Given the description of an element on the screen output the (x, y) to click on. 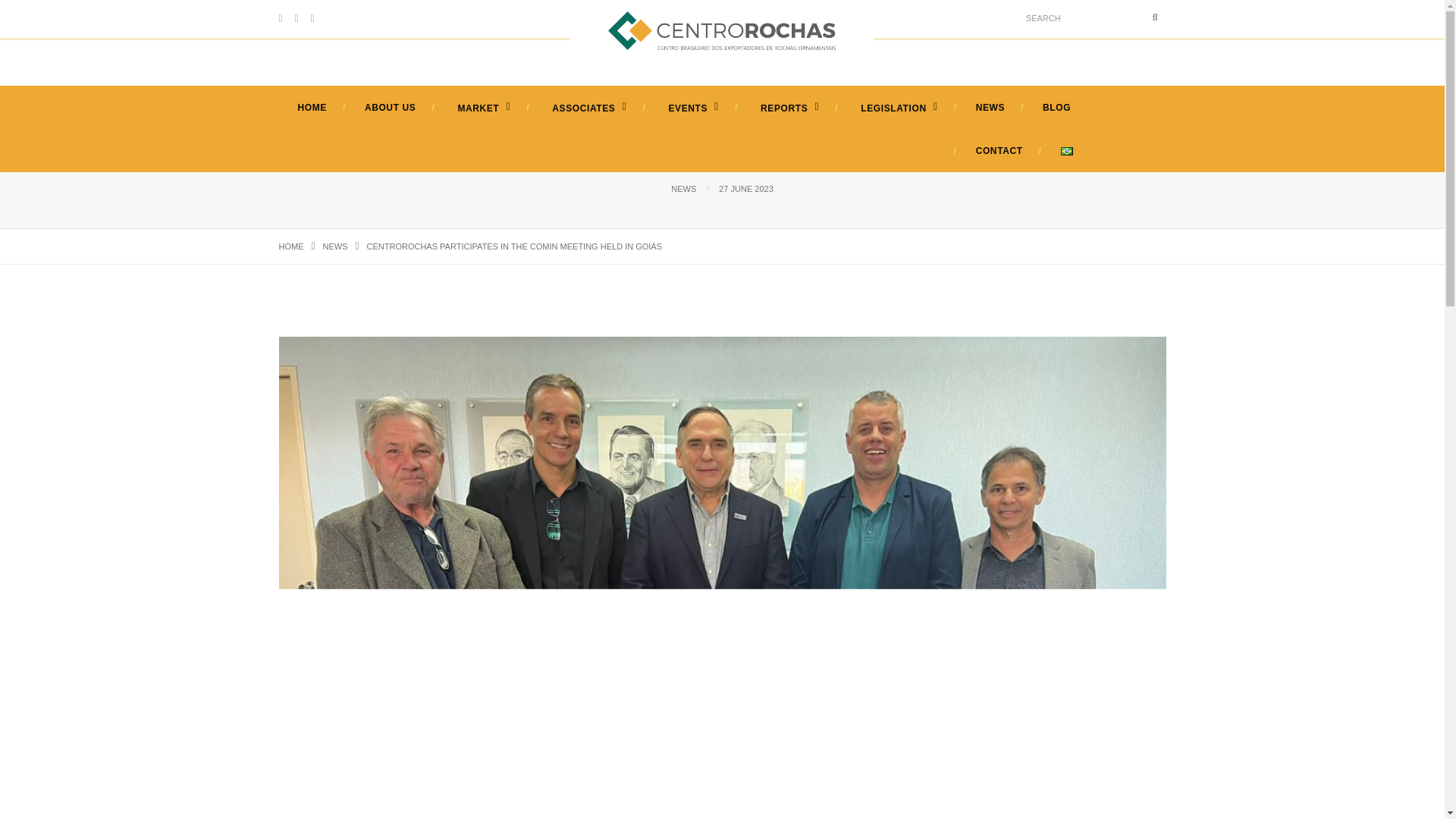
MARKET (481, 108)
ASSOCIATES (587, 108)
EVENTS (691, 108)
NEWS (335, 245)
ABOUT US (389, 107)
News (335, 245)
REPORTS (788, 108)
CONTACT (999, 150)
NEWS (683, 188)
HOME (312, 107)
Browse to: Home (291, 245)
LEGISLATION (897, 108)
NEWS (989, 107)
BLOG (1056, 107)
HOME (291, 245)
